Given the description of an element on the screen output the (x, y) to click on. 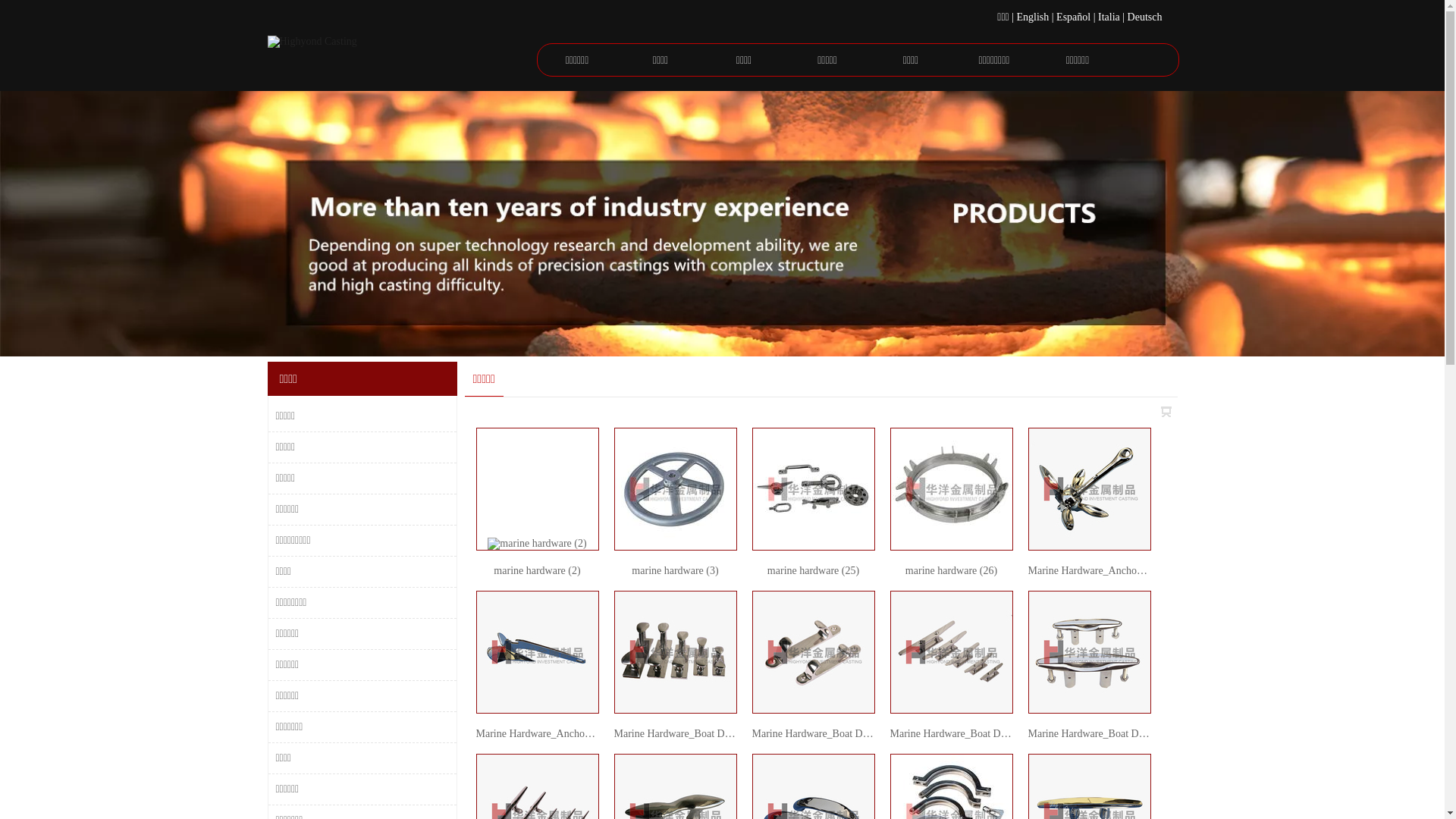
Deutsch Element type: text (1144, 16)
Marine Hardware_Boat Dock Cleat (1) Element type: text (697, 733)
marine hardware (25) Element type: text (813, 570)
Marine Hardware_Anchor (2) Element type: text (539, 733)
Marine Hardware_Anchor (1) Element type: text (1091, 570)
marine hardware (26) Element type: text (951, 570)
English Element type: text (1032, 16)
Highyond Casting Element type: hover (399, 55)
Italia Element type: text (1109, 16)
Marine Hardware_Boat Dock Cleat (3) Element type: text (973, 733)
marine hardware (3) Element type: text (674, 570)
Marine Hardware_Boat Dock Cleat (2) Element type: text (835, 733)
marine hardware (2) Element type: text (536, 570)
Marine Hardware_Boat Dock Cleat (4) Element type: text (1111, 733)
